Given the description of an element on the screen output the (x, y) to click on. 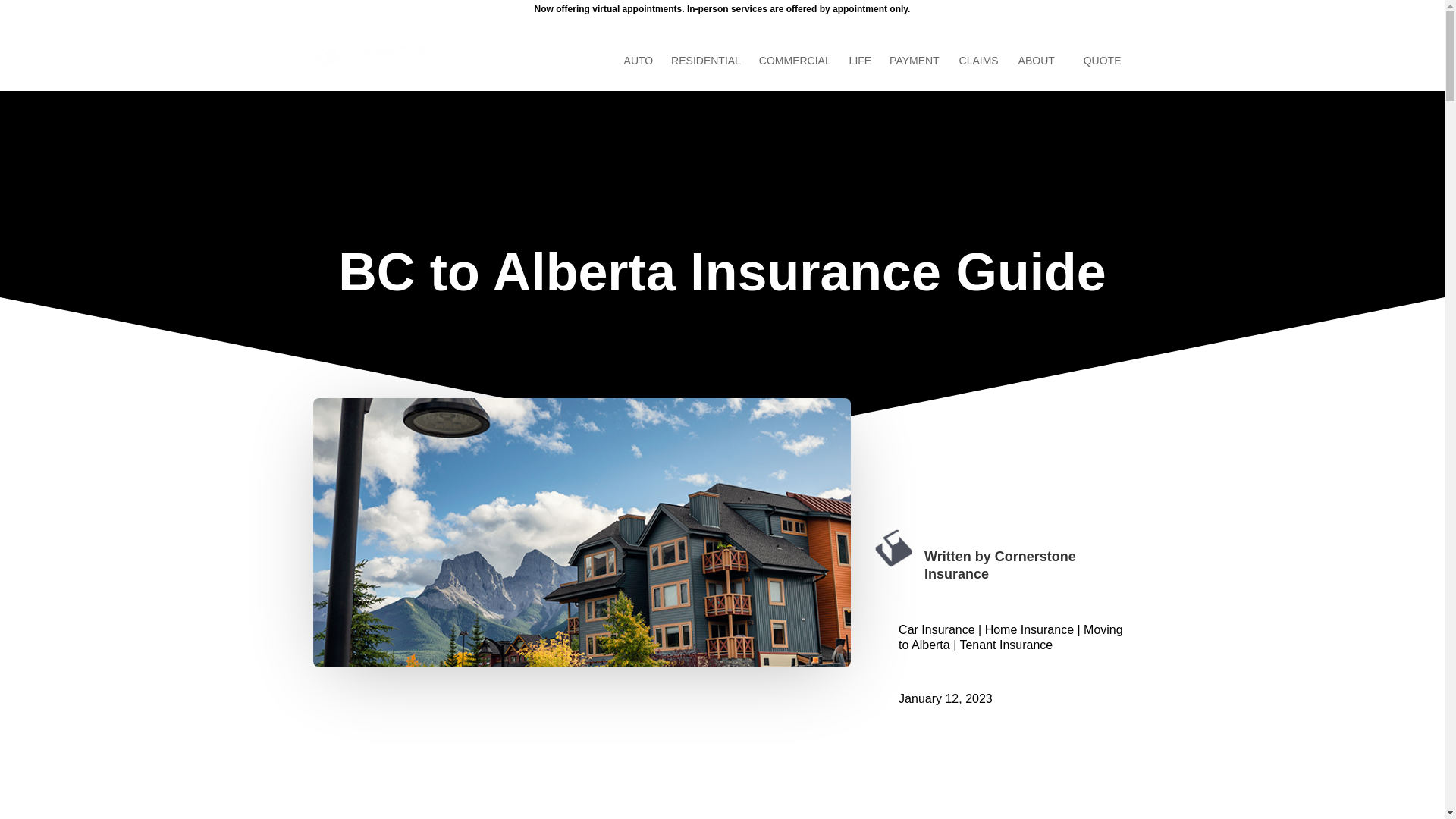
PAYMENT (914, 72)
RESIDENTIAL (713, 72)
AUTO (646, 72)
COMMERCIAL (801, 72)
LIFE (867, 72)
ABOUT (1043, 72)
CLAIMS (978, 72)
